Given the description of an element on the screen output the (x, y) to click on. 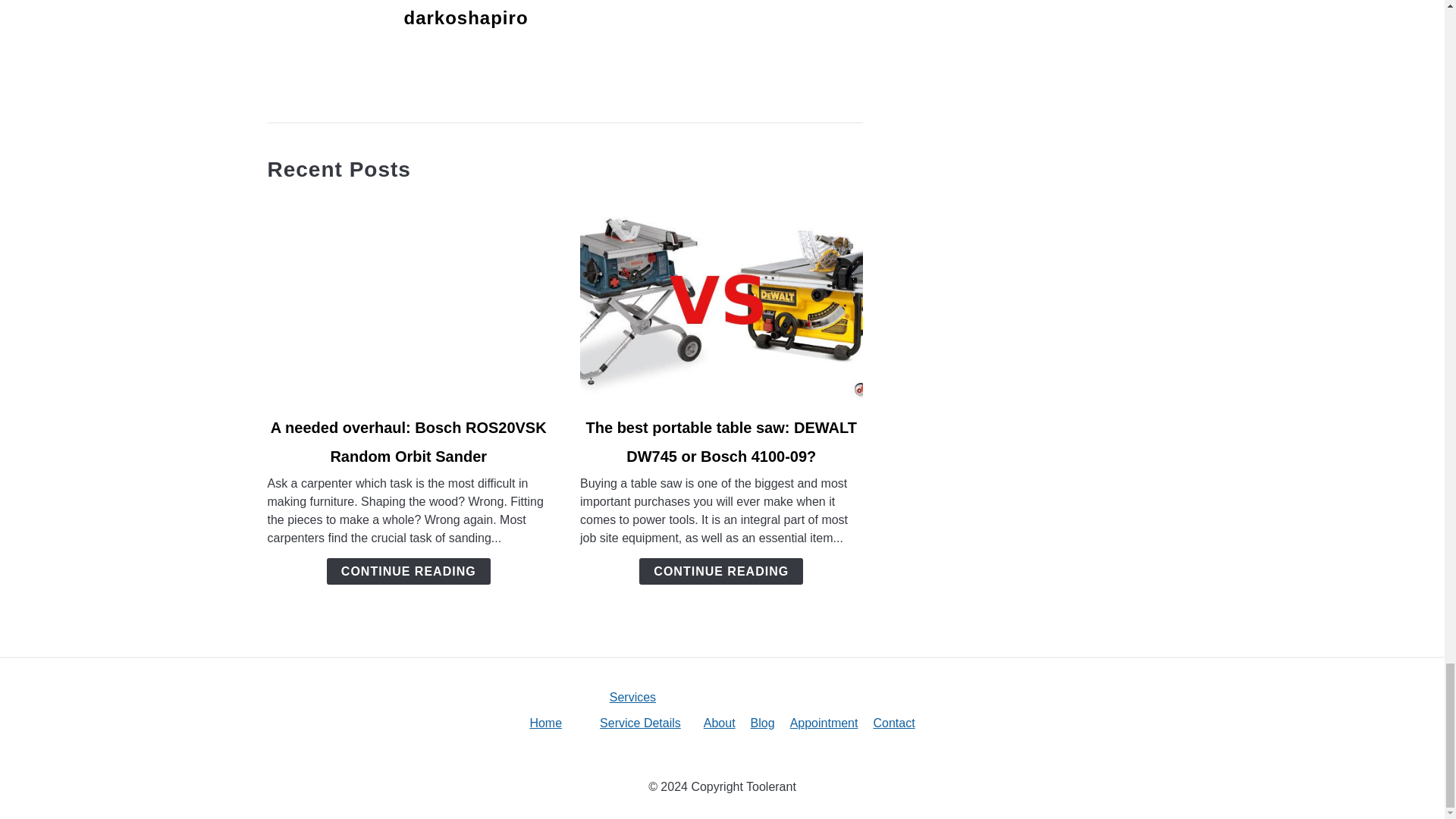
Service Details (640, 722)
Appointment (824, 722)
A needed overhaul: Bosch ROS20VSK Random Orbit Sander (408, 442)
Home (545, 722)
CONTINUE READING (721, 570)
Services (633, 697)
darkoshapiro (465, 17)
The best portable table saw: DEWALT DW745 or Bosch 4100-09? (721, 442)
About (719, 722)
Blog (762, 722)
CONTINUE READING (408, 570)
